Given the description of an element on the screen output the (x, y) to click on. 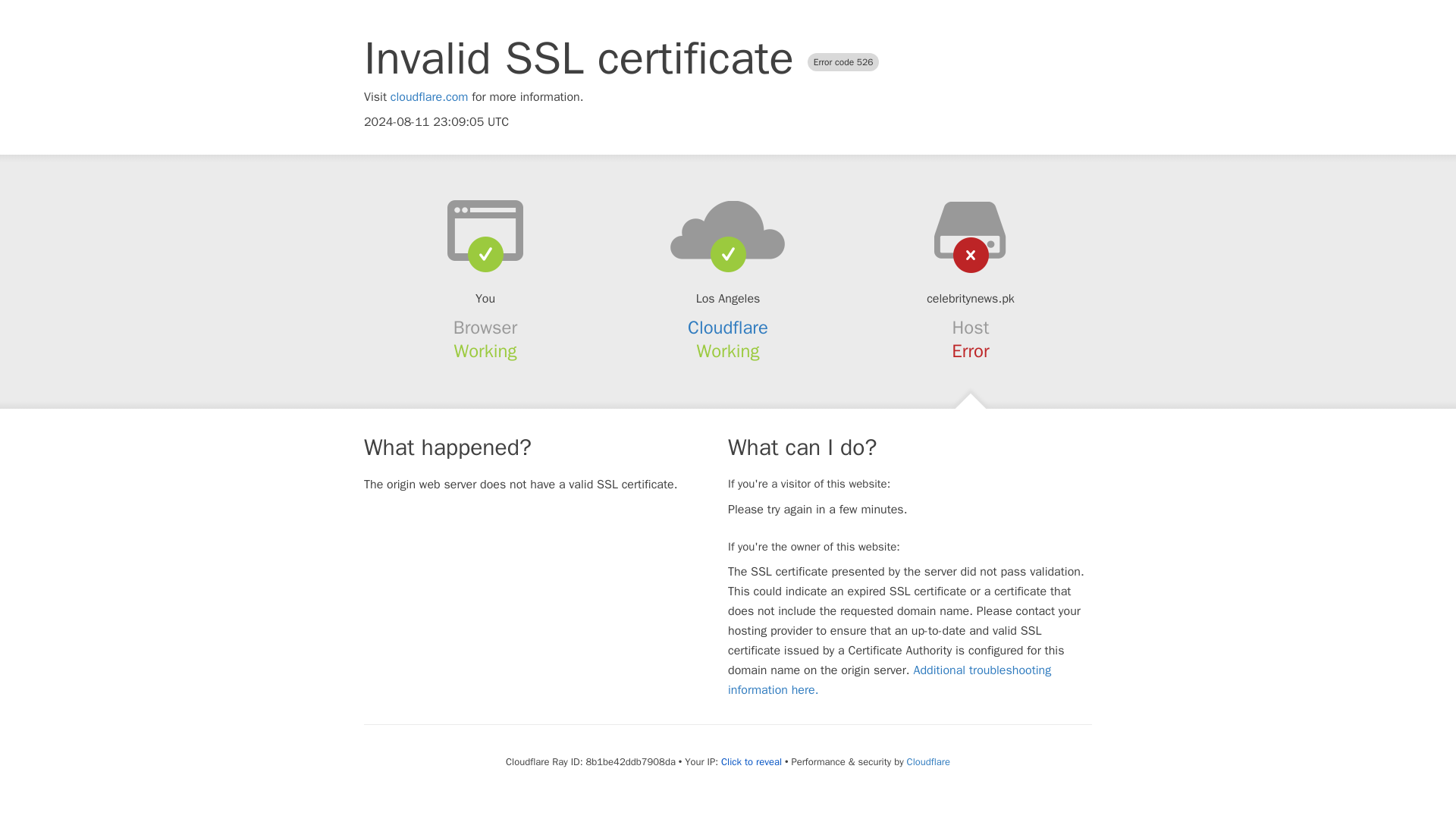
Cloudflare (928, 761)
Additional troubleshooting information here. (889, 679)
Click to reveal (750, 762)
Cloudflare (727, 327)
cloudflare.com (429, 96)
